Given the description of an element on the screen output the (x, y) to click on. 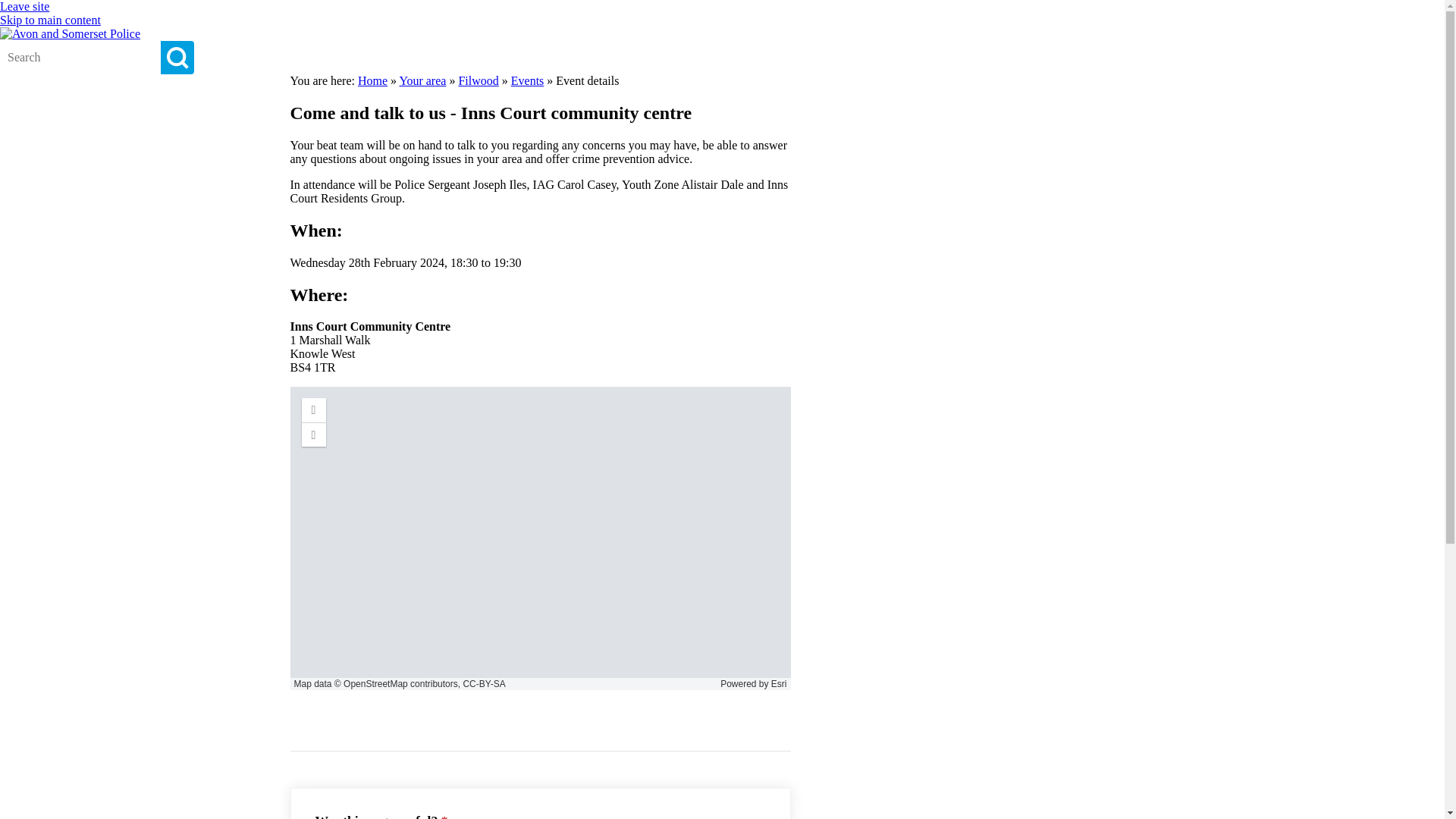
Filwood (477, 80)
Events (527, 80)
Esri (779, 683)
Your area (421, 80)
Search (176, 57)
Home (372, 80)
